Given the description of an element on the screen output the (x, y) to click on. 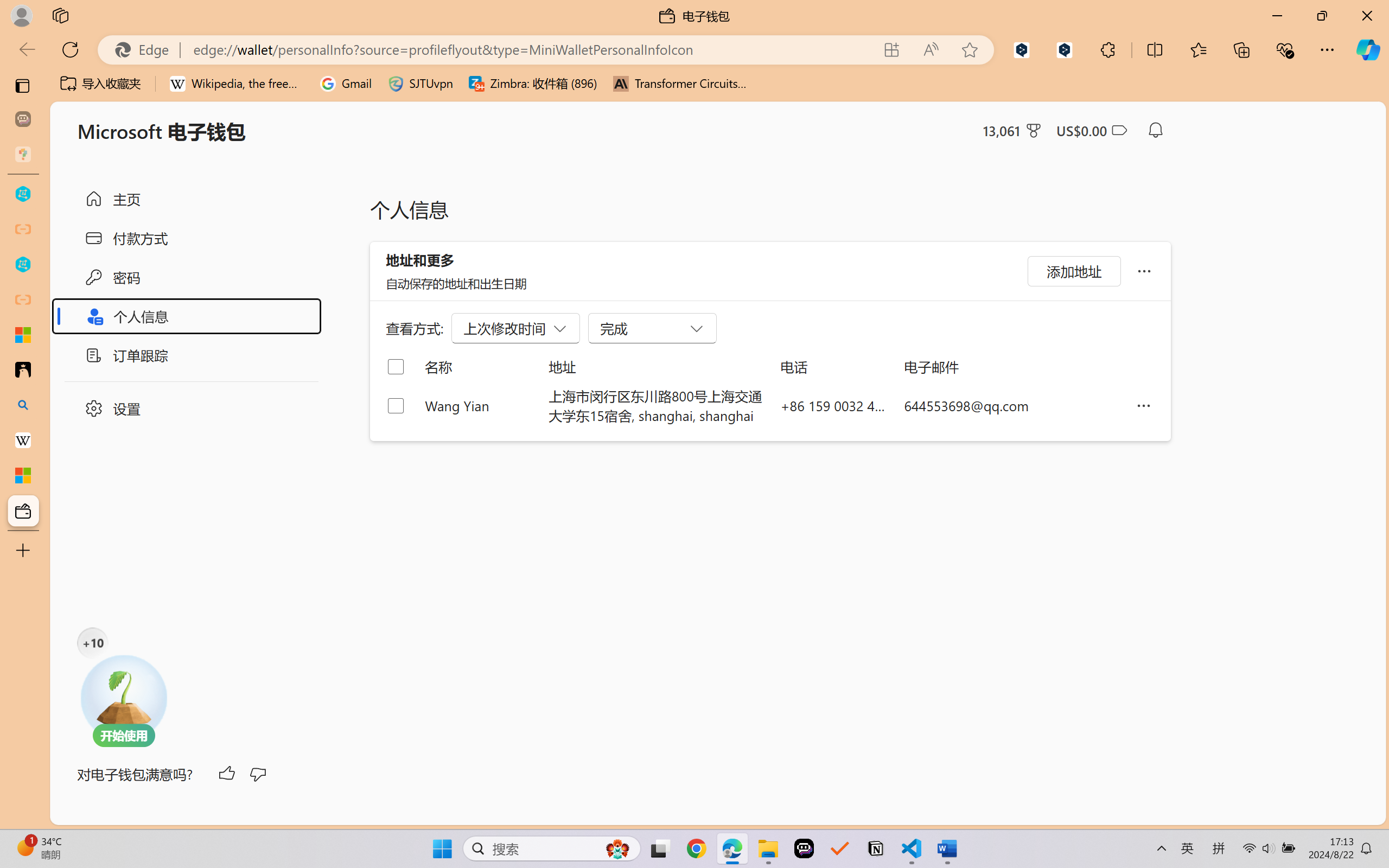
wangyian_webcrawler - DSW (22, 264)
SJTUvpn (419, 83)
wangyian_dsw - DSW (22, 194)
Transformer Circuits Thread (680, 83)
